Given the description of an element on the screen output the (x, y) to click on. 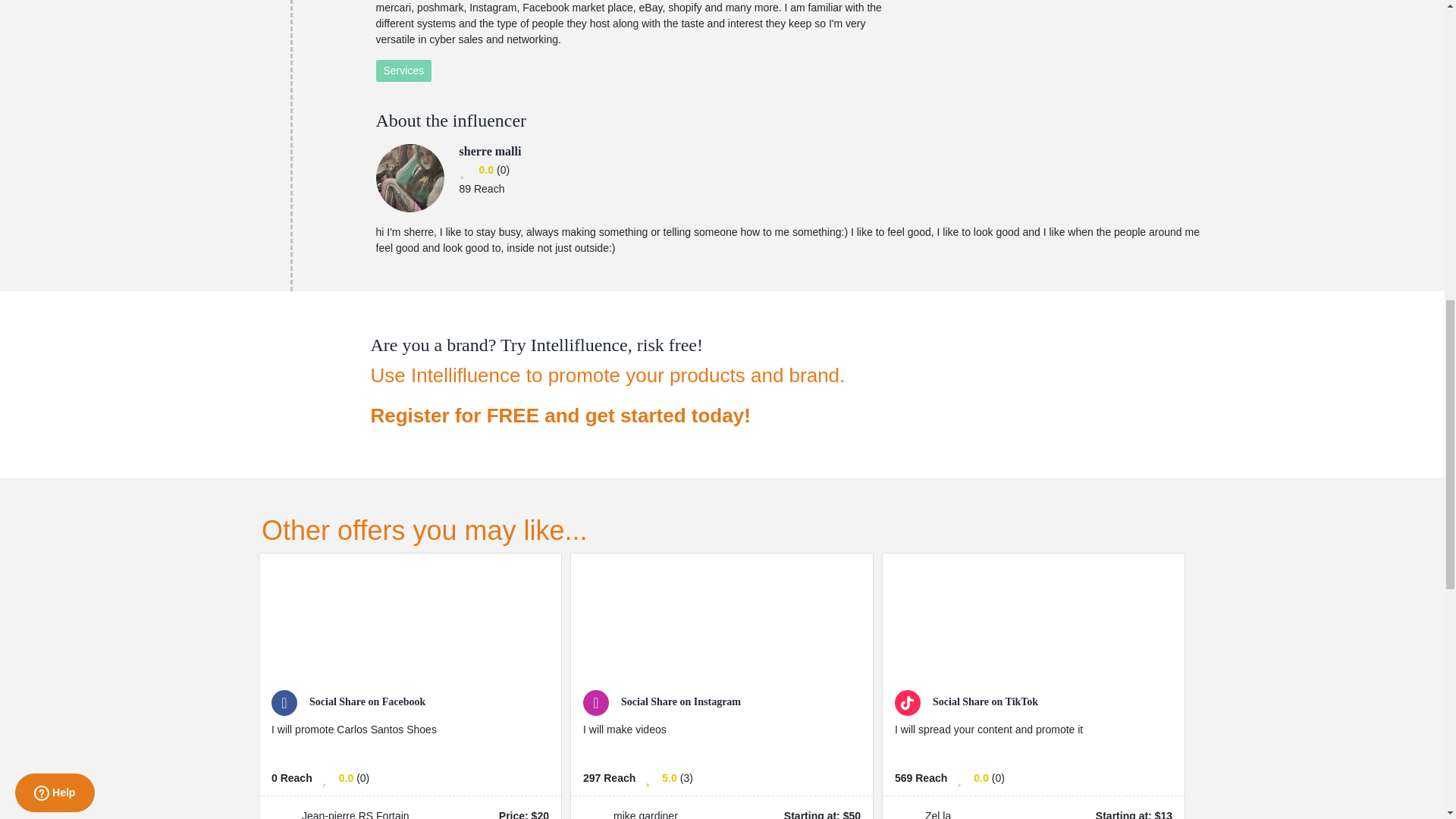
Number of reviews (502, 170)
Register for FREE and get started today! (606, 415)
Star rating out of 5 (486, 170)
Number of reviews (362, 778)
Number of reviews (997, 778)
Star rating out of 5 (669, 778)
Star rating out of 5 (981, 778)
Number of reviews (686, 778)
Services (403, 70)
Star rating out of 5 (346, 778)
